Given the description of an element on the screen output the (x, y) to click on. 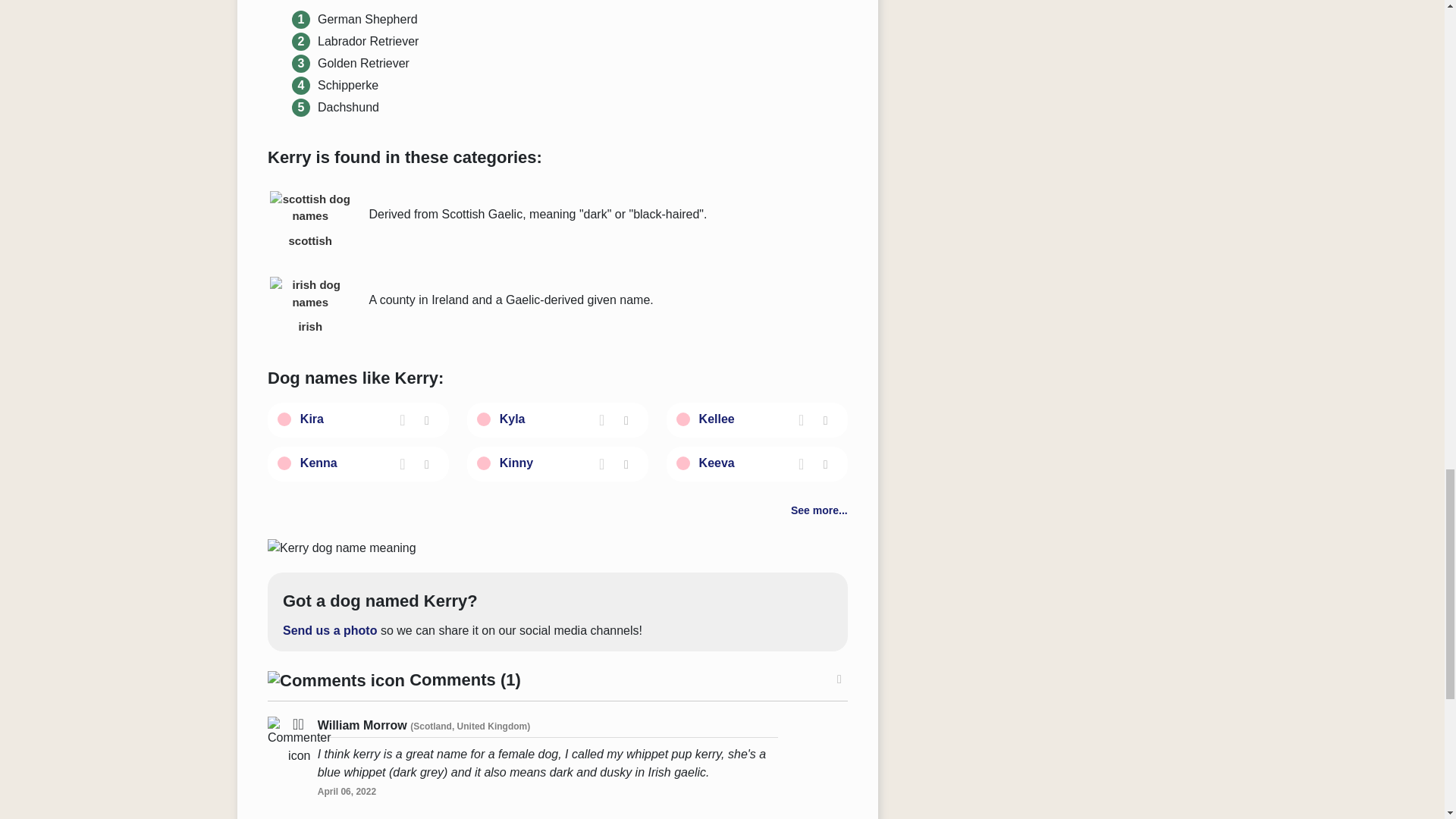
Kinny (515, 462)
scottish (309, 220)
See more... (818, 510)
Keeva (716, 462)
Kenna (318, 462)
Kellee (716, 418)
Kira (311, 418)
irish (309, 306)
Kyla (512, 418)
Send us a photo (329, 630)
